Given the description of an element on the screen output the (x, y) to click on. 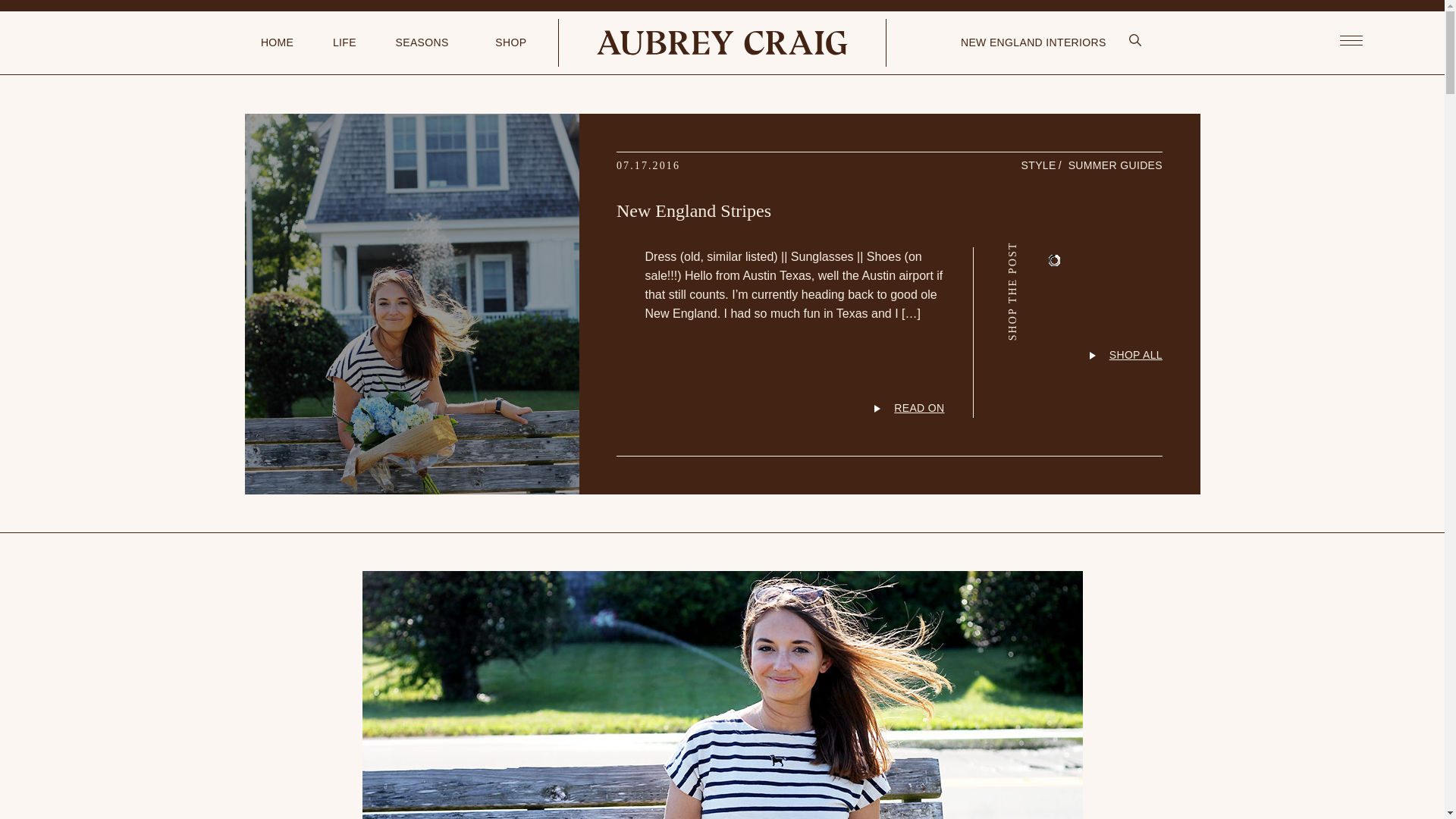
LIFE (344, 42)
SUMMER GUIDES (1114, 165)
STYLE (1039, 165)
HOME (277, 42)
NEW ENGLAND INTERIORS (1033, 42)
SEASONS (422, 42)
SHOP ALL (1067, 381)
READ ON (794, 407)
SHOP (510, 42)
